Given the description of an element on the screen output the (x, y) to click on. 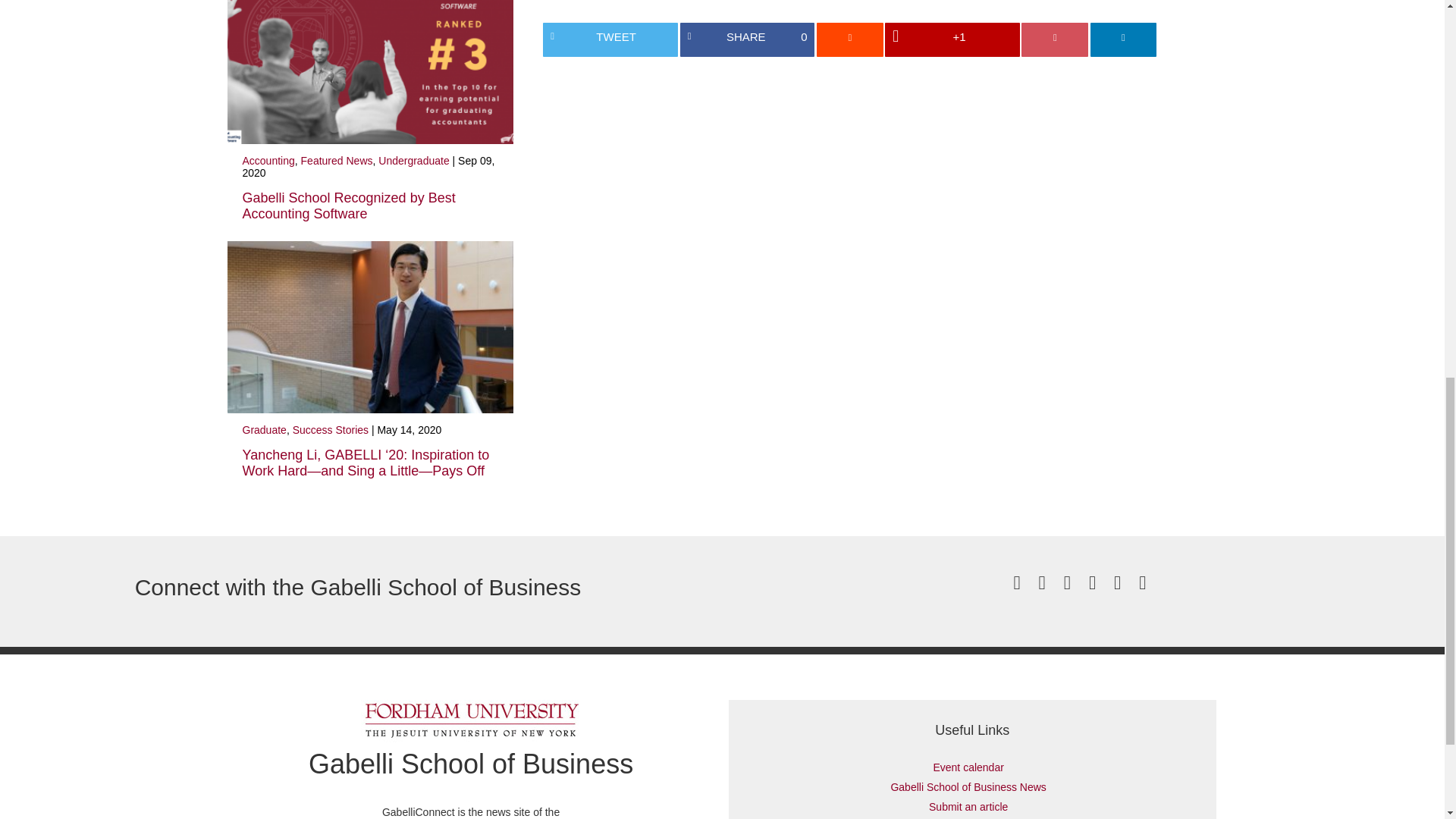
Share on Linkedin (1123, 39)
Share on Facebook (747, 39)
Submit to Reddit (849, 39)
Tweet on Twitter (610, 39)
Save to read later on Pocket (1054, 39)
Gabelli School Recognized by Best Accounting Software (349, 205)
